Given the description of an element on the screen output the (x, y) to click on. 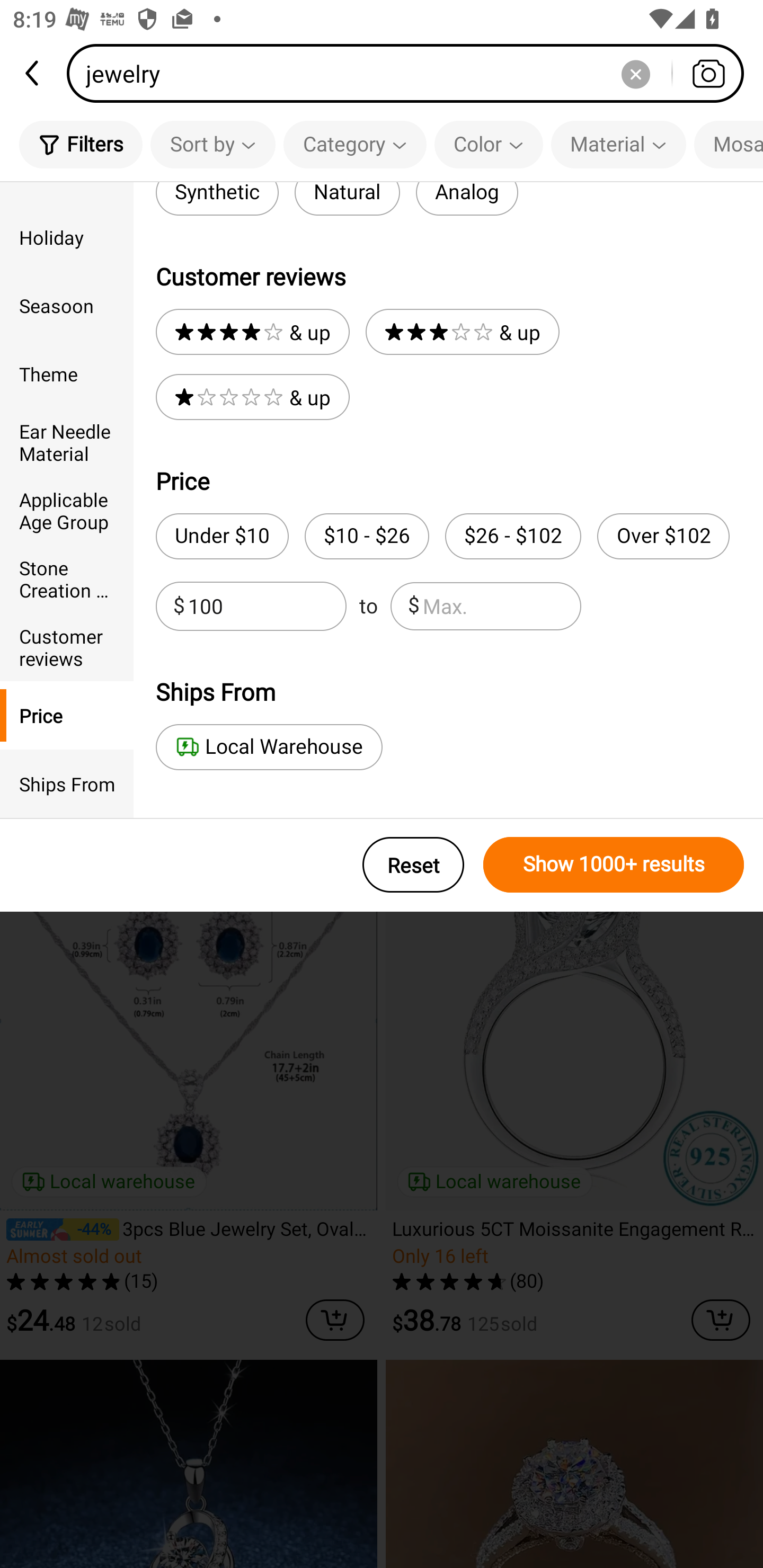
back (33, 72)
jewelry (411, 73)
Delete search history (635, 73)
Search by photo (708, 73)
Filters (80, 143)
Sort by (212, 143)
Category (354, 143)
Color (488, 143)
Material (617, 143)
Mosaic Material (728, 143)
Synthetic (216, 198)
Natural (346, 198)
Analog (466, 198)
Holiday (66, 236)
Seasoon (66, 305)
& up (252, 331)
& up (462, 331)
Theme (66, 373)
& up (252, 397)
Ear Needle Material (66, 441)
